Given the description of an element on the screen output the (x, y) to click on. 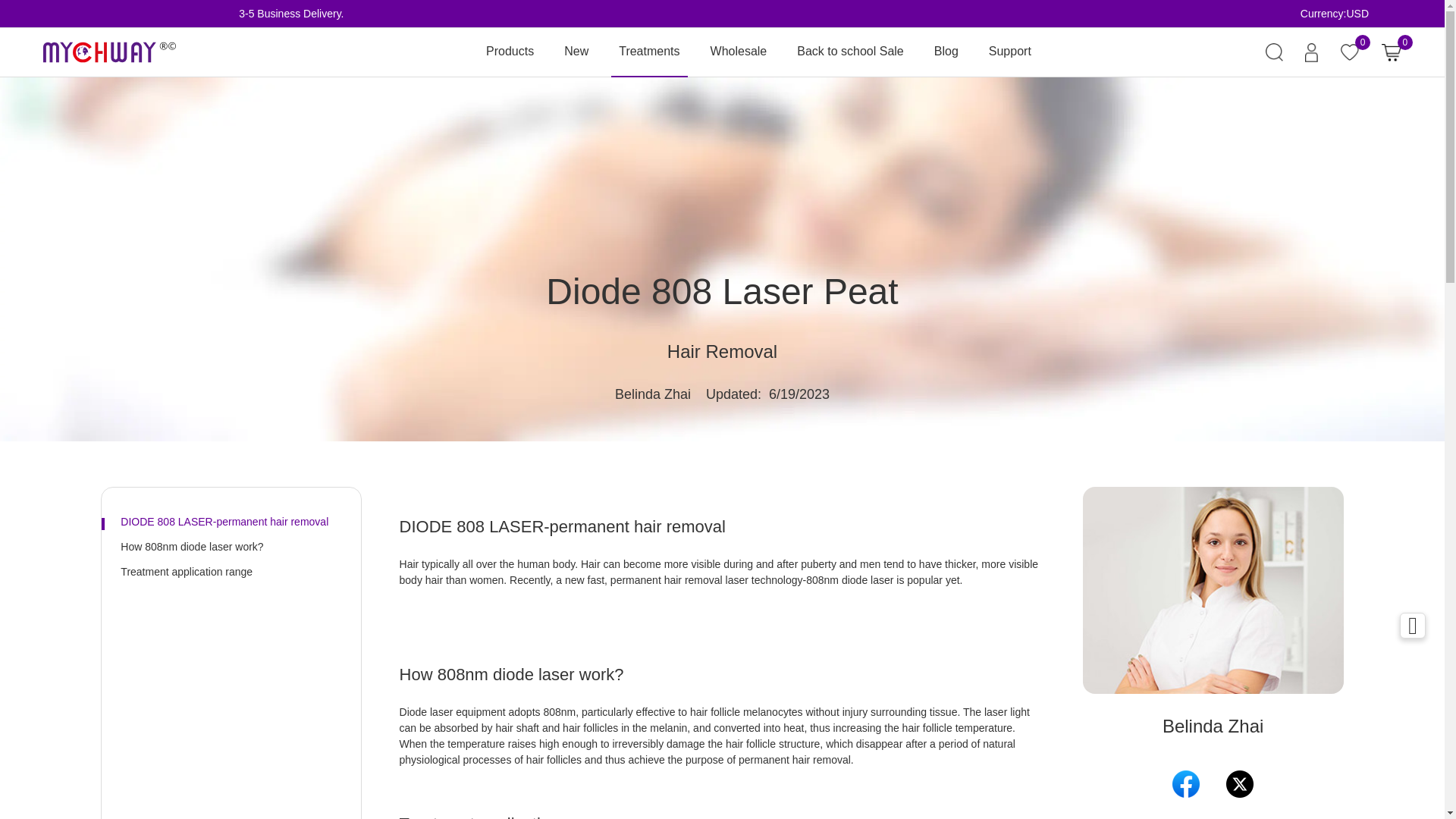
Products (510, 51)
Products (510, 51)
mychway (109, 52)
